Given the description of an element on the screen output the (x, y) to click on. 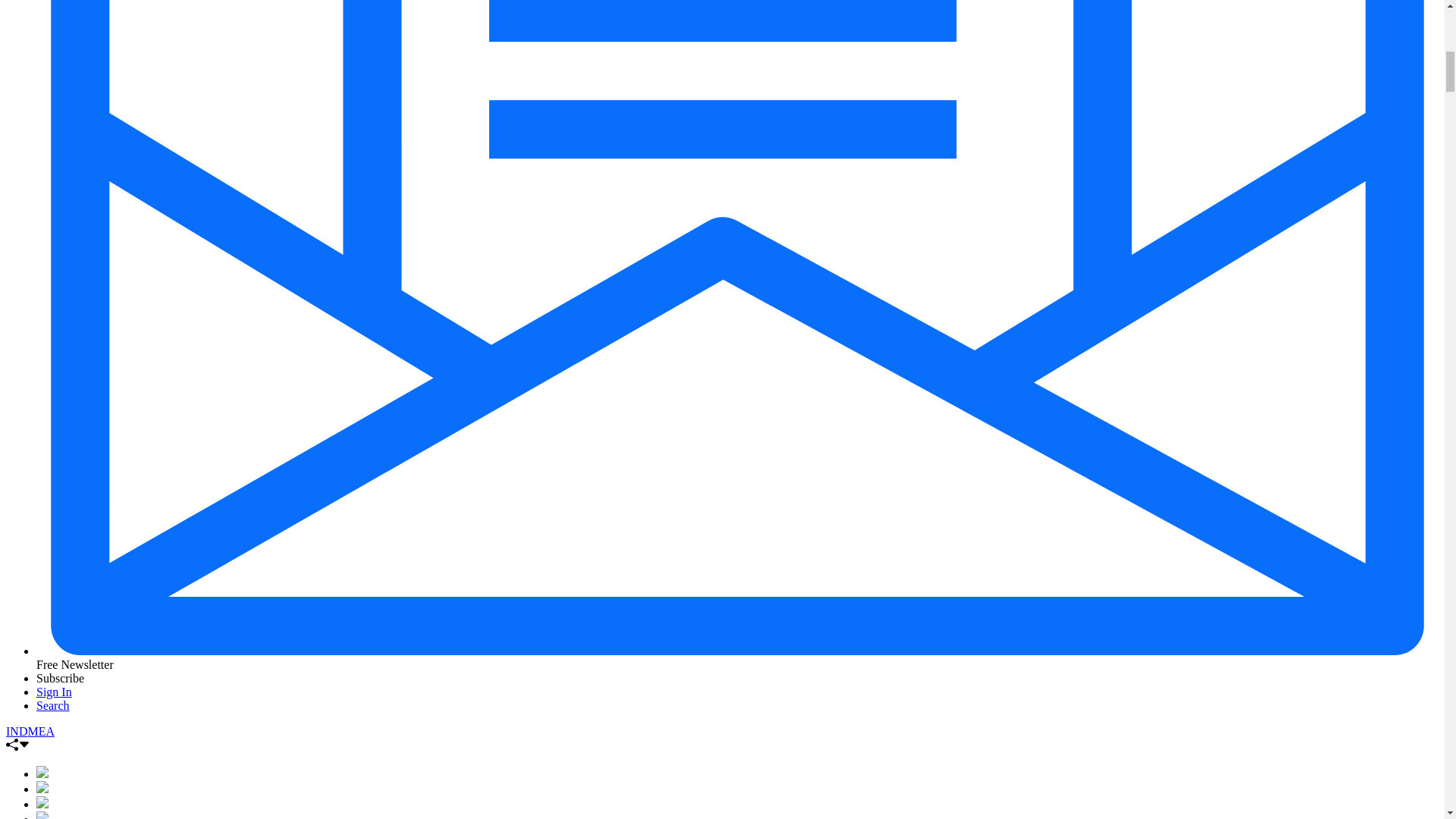
IND (16, 730)
Search (52, 705)
Sign In (53, 691)
Subscribe (60, 677)
MEA (41, 730)
